Given the description of an element on the screen output the (x, y) to click on. 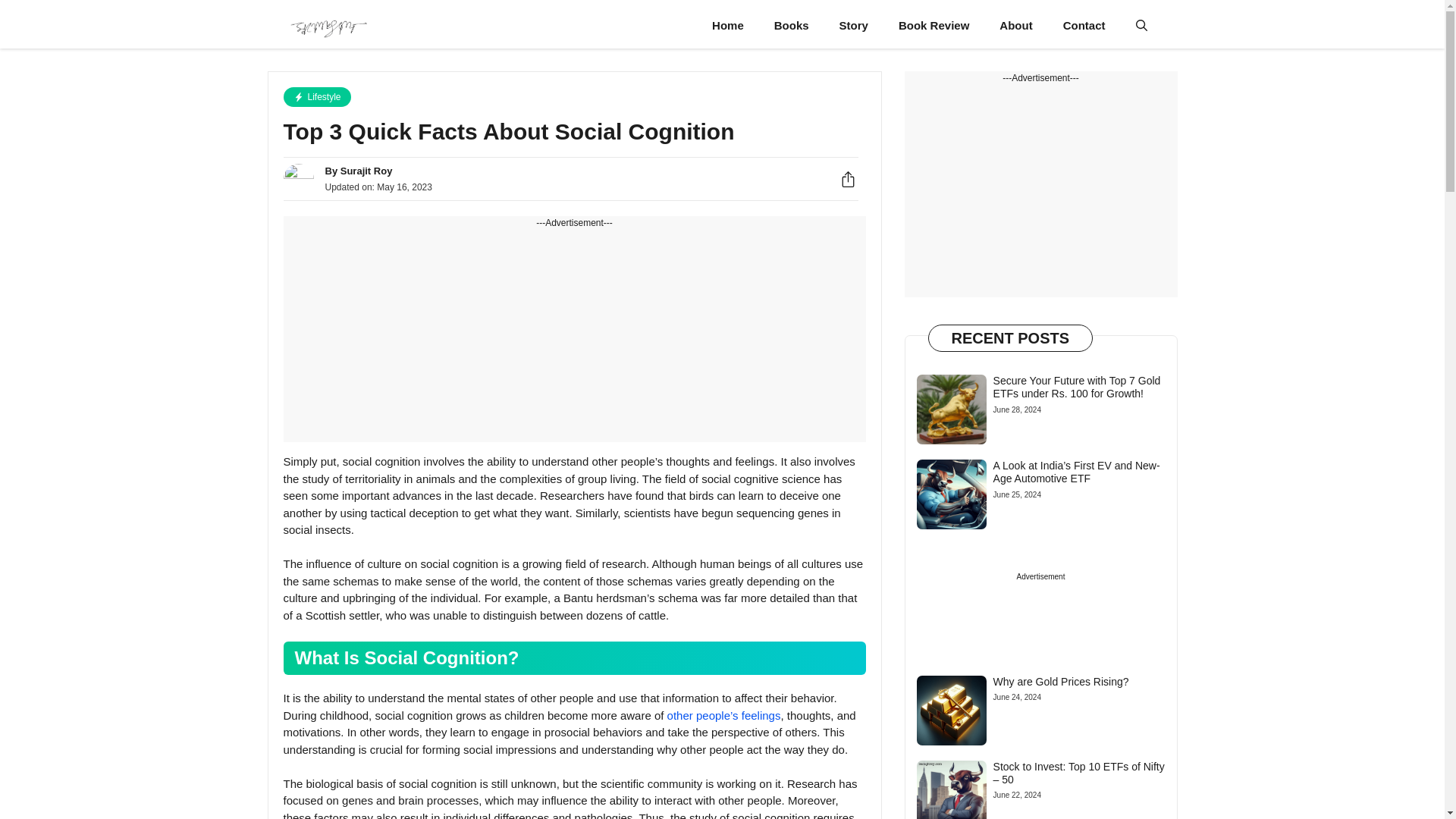
Lifestyle (316, 96)
About (1015, 25)
Why are Gold Prices Rising? (1060, 681)
Advertisement (1040, 191)
Books (791, 25)
Surajit Roy (366, 170)
Advertisement (1039, 610)
Advertisement (574, 336)
Surajit Roy (327, 25)
Book Review (933, 25)
Story (853, 25)
Home (727, 25)
Contact (1084, 25)
